Given the description of an element on the screen output the (x, y) to click on. 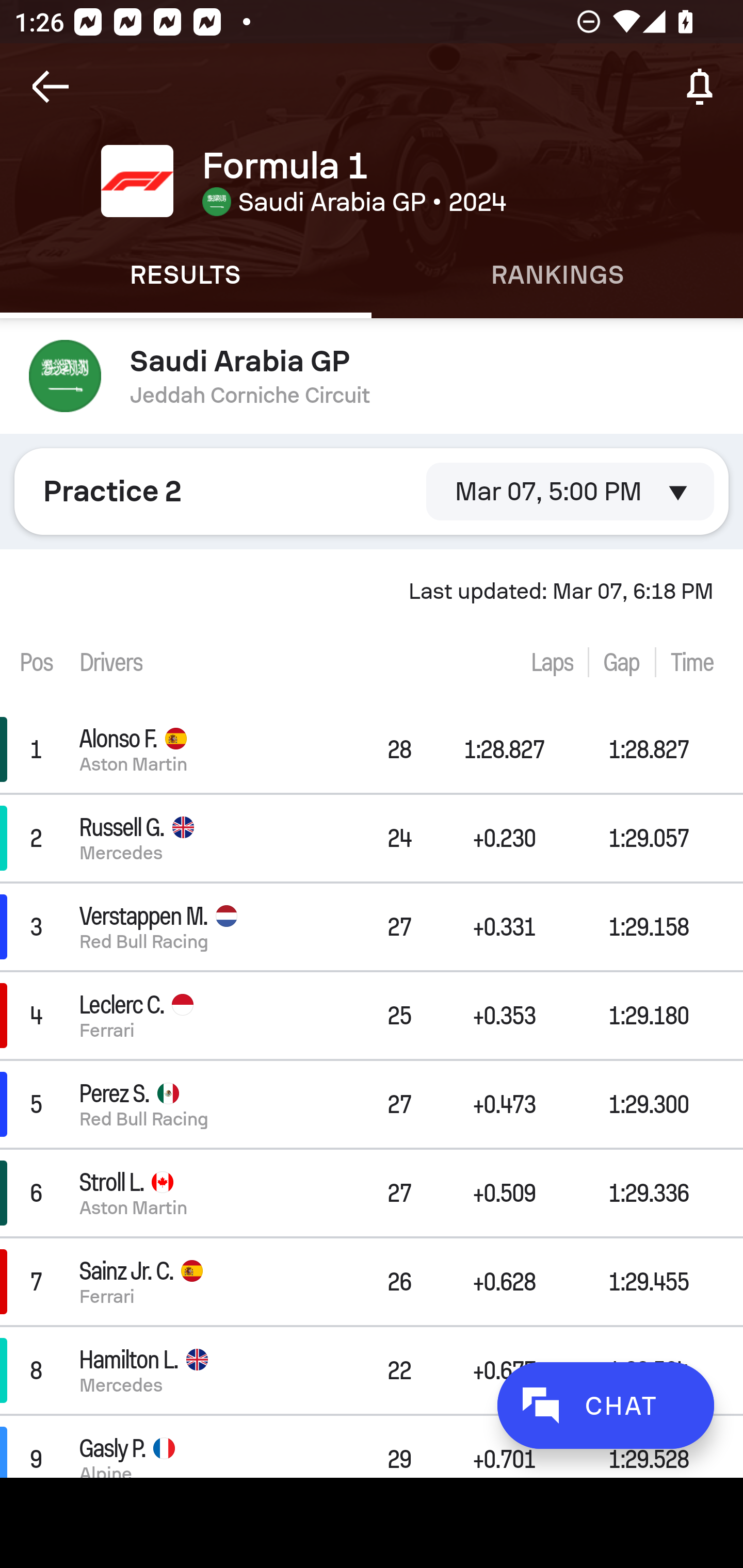
Navigate up (50, 86)
Rankings RANKINGS (557, 275)
Practice 2 Mar 07, 5:00 PM (371, 491)
Mar 07, 5:00 PM (570, 491)
1 Alonso F. Aston Martin 28 1:28.827 1:28.827 (371, 749)
2 Russell G. Mercedes 24 +0.230 1:29.057 (371, 837)
3 Verstappen M. Red Bull Racing 27 +0.331 1:29.158 (371, 926)
4 Leclerc C. Ferrari 25 +0.353 1:29.180 (371, 1015)
5 Perez S. Red Bull Racing 27 +0.473 1:29.300 (371, 1104)
6 Stroll L. Aston Martin 27 +0.509 1:29.336 (371, 1192)
7 Sainz Jr. C. Ferrari 26 +0.628 1:29.455 (371, 1281)
CHAT (605, 1405)
